Given the description of an element on the screen output the (x, y) to click on. 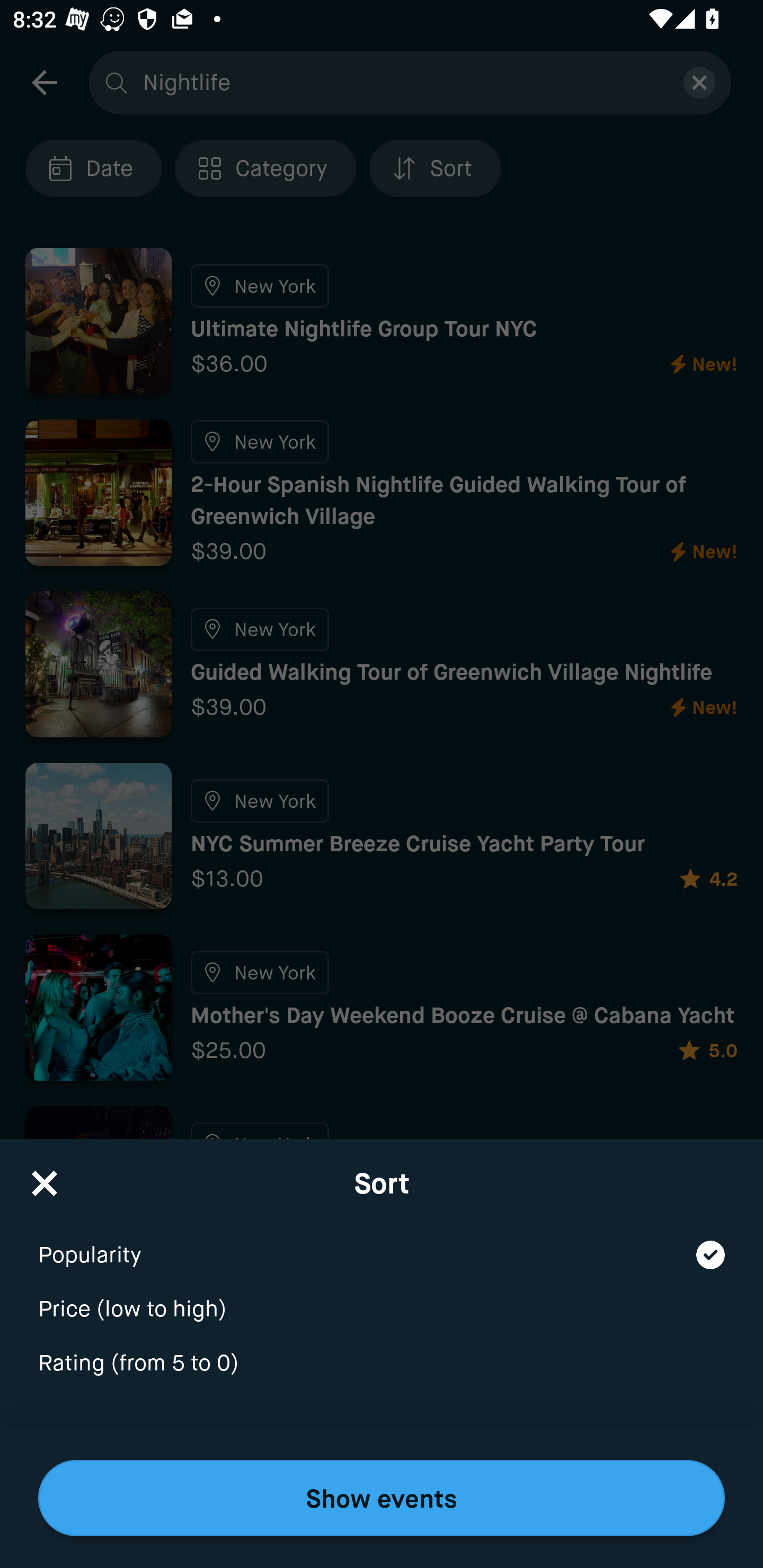
CloseButton (44, 1177)
Popularity Selected Icon (381, 1243)
Price (low to high) (381, 1297)
Rating (from 5 to 0) (381, 1362)
Show events (381, 1497)
